Given the description of an element on the screen output the (x, y) to click on. 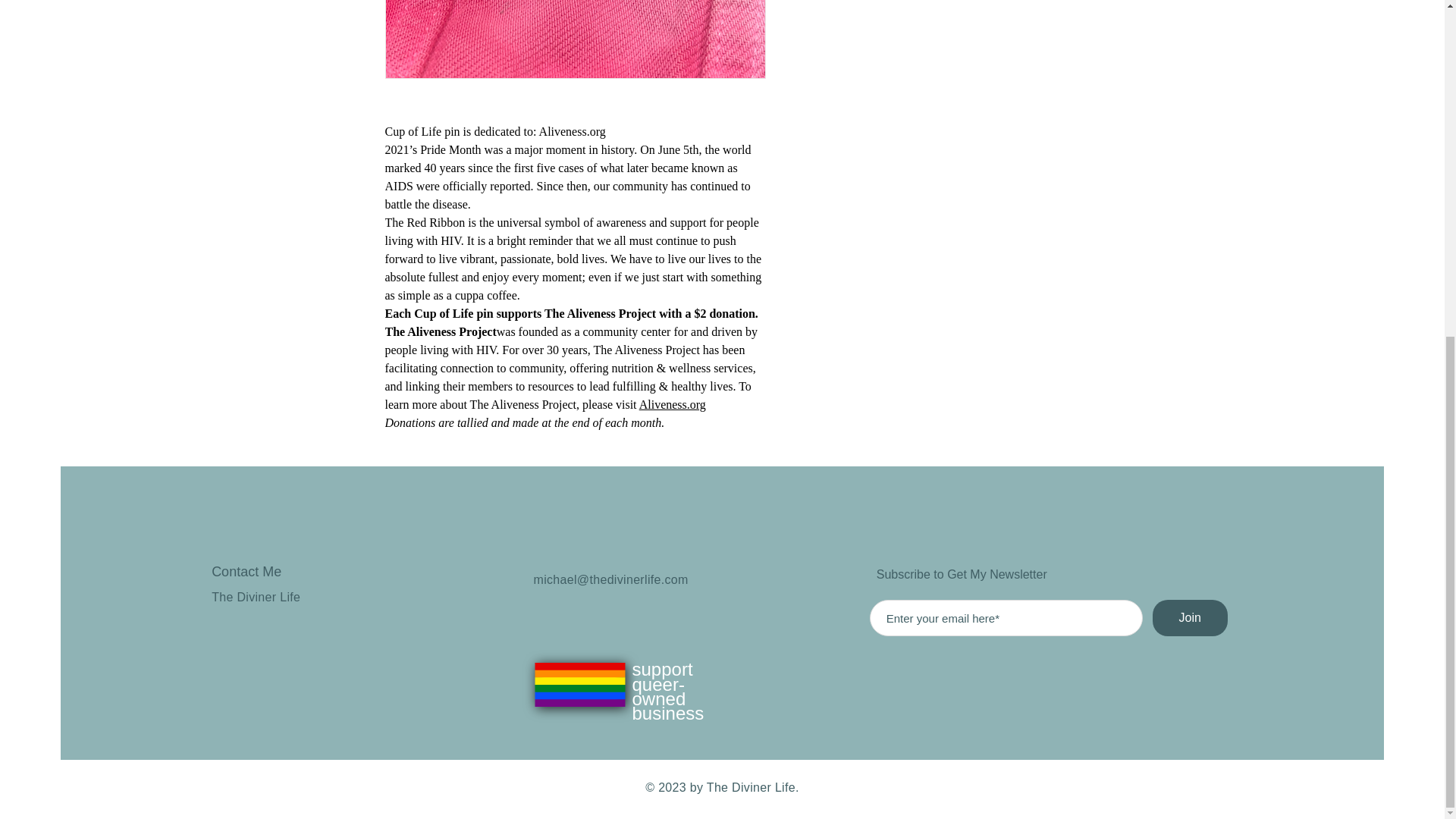
Join (1190, 617)
